Given the description of an element on the screen output the (x, y) to click on. 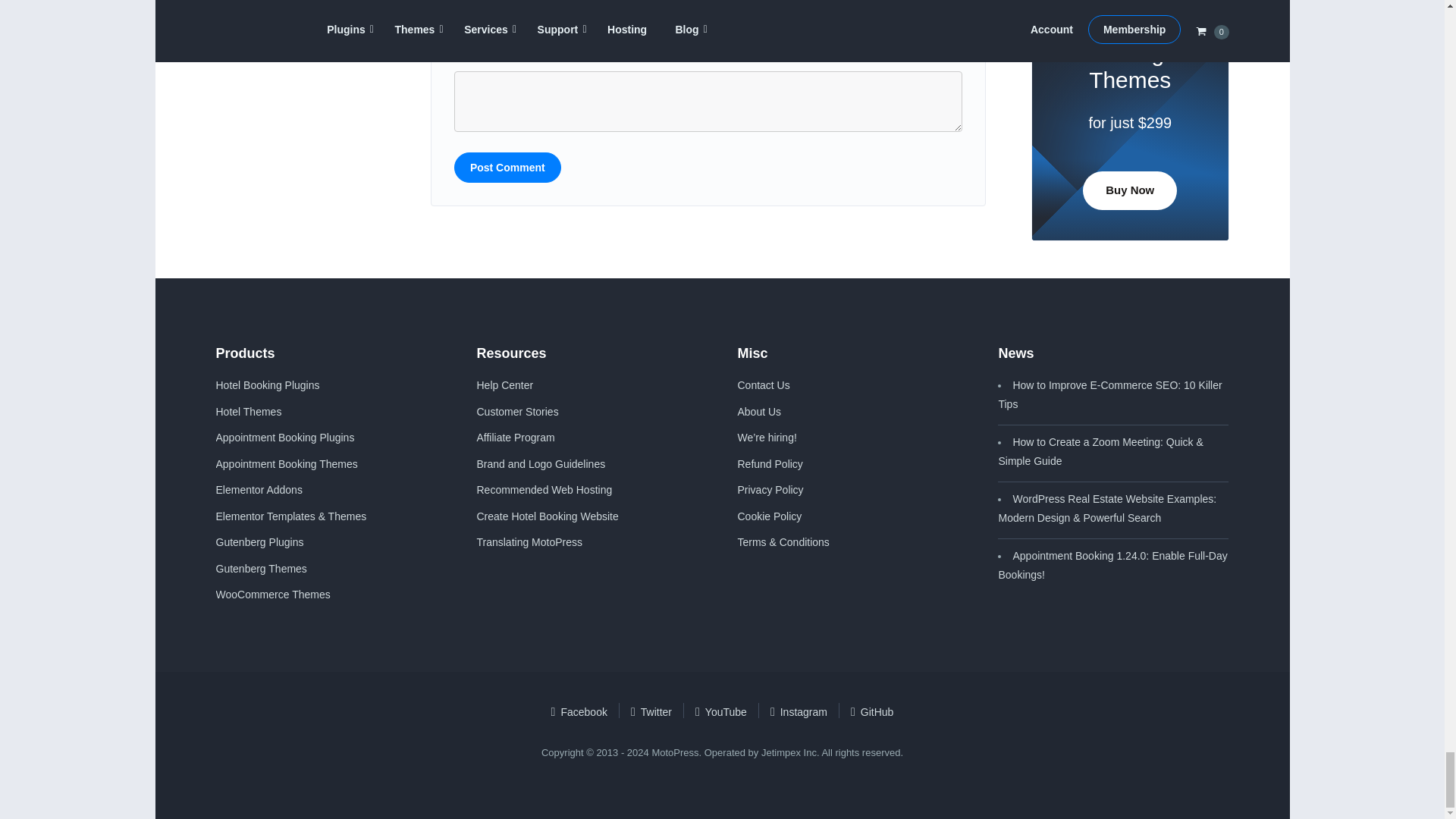
Post Comment (507, 167)
